Given the description of an element on the screen output the (x, y) to click on. 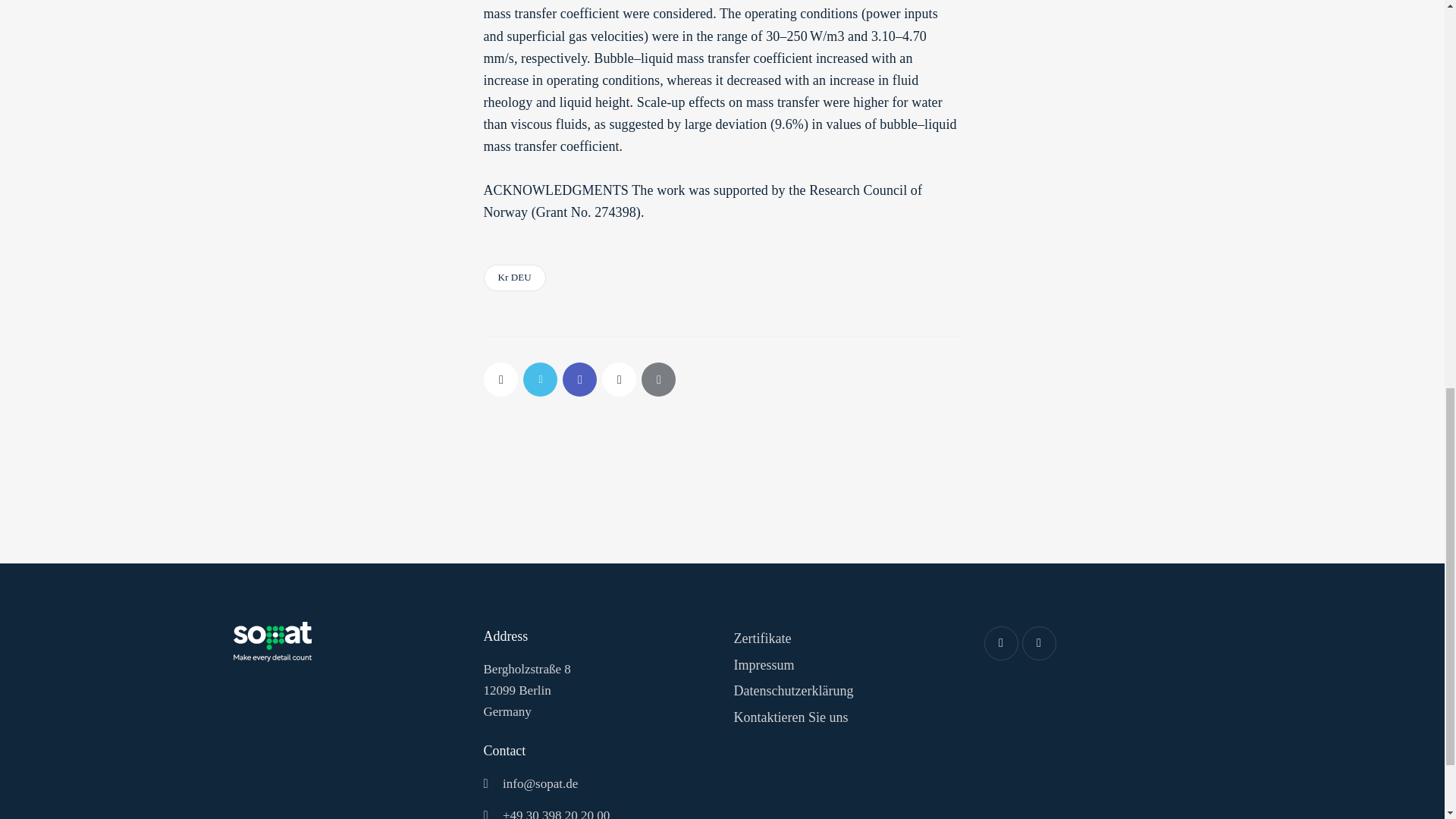
Copy URL to clipboard (619, 379)
